Given the description of an element on the screen output the (x, y) to click on. 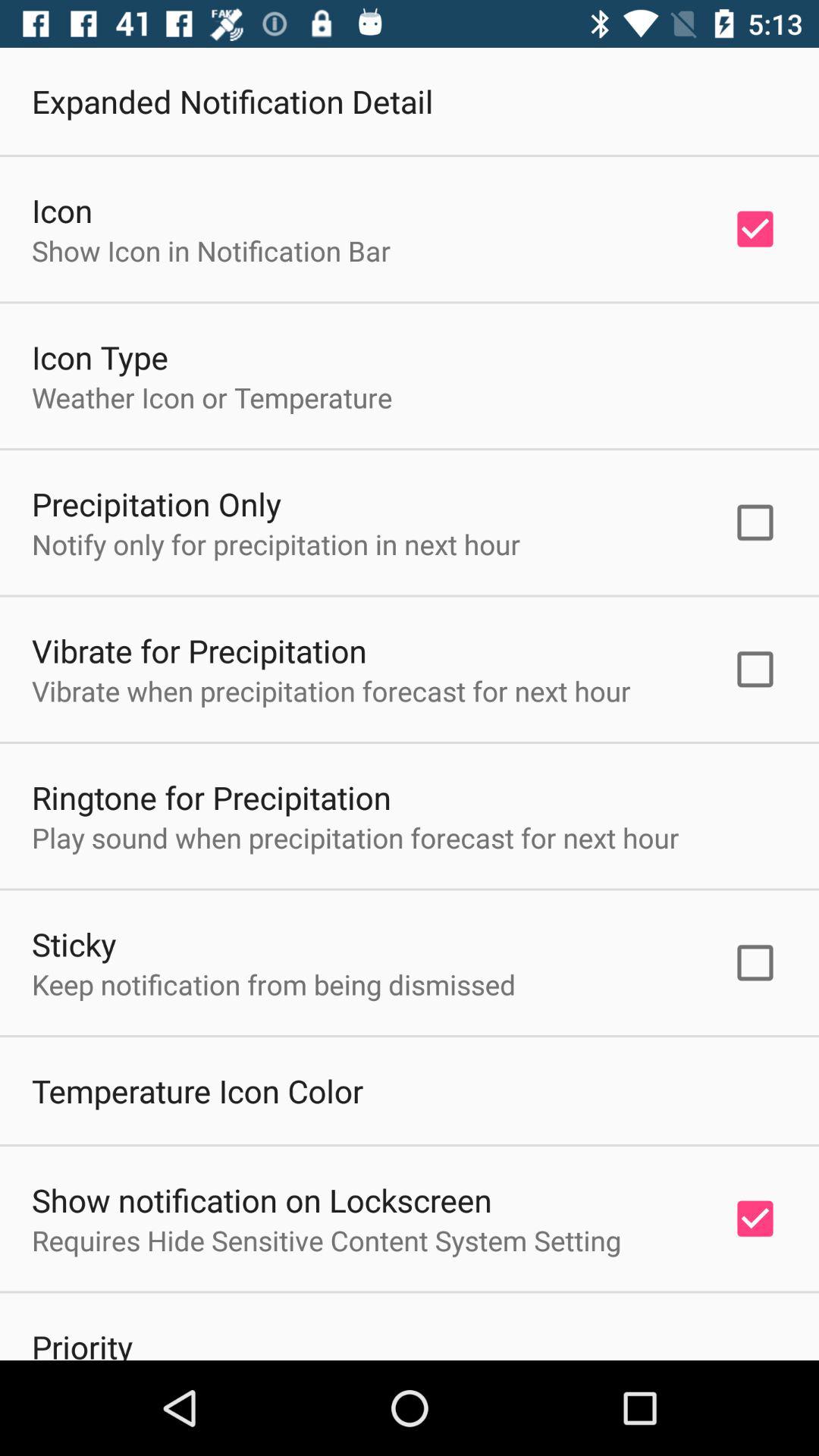
open play sound when item (355, 837)
